Given the description of an element on the screen output the (x, y) to click on. 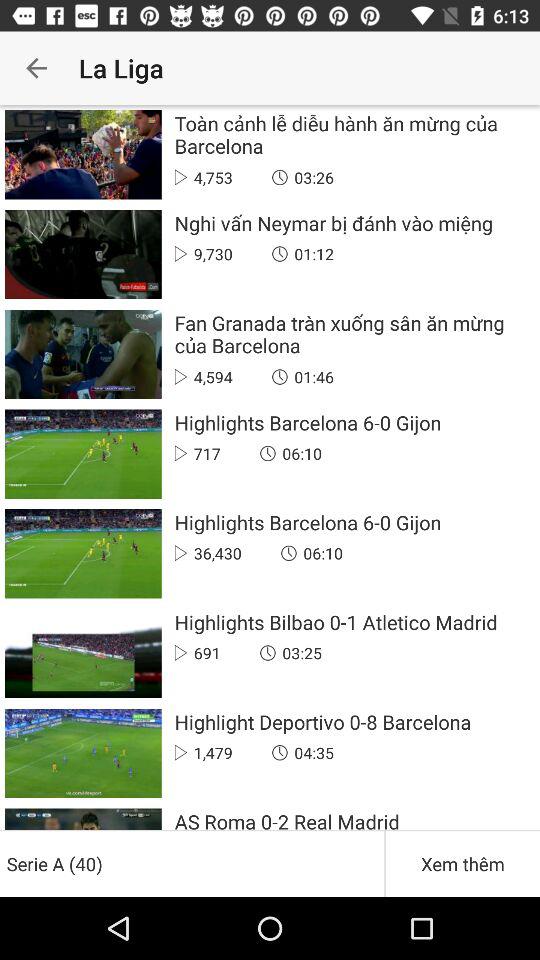
jump to serie a (40) icon (192, 863)
